Given the description of an element on the screen output the (x, y) to click on. 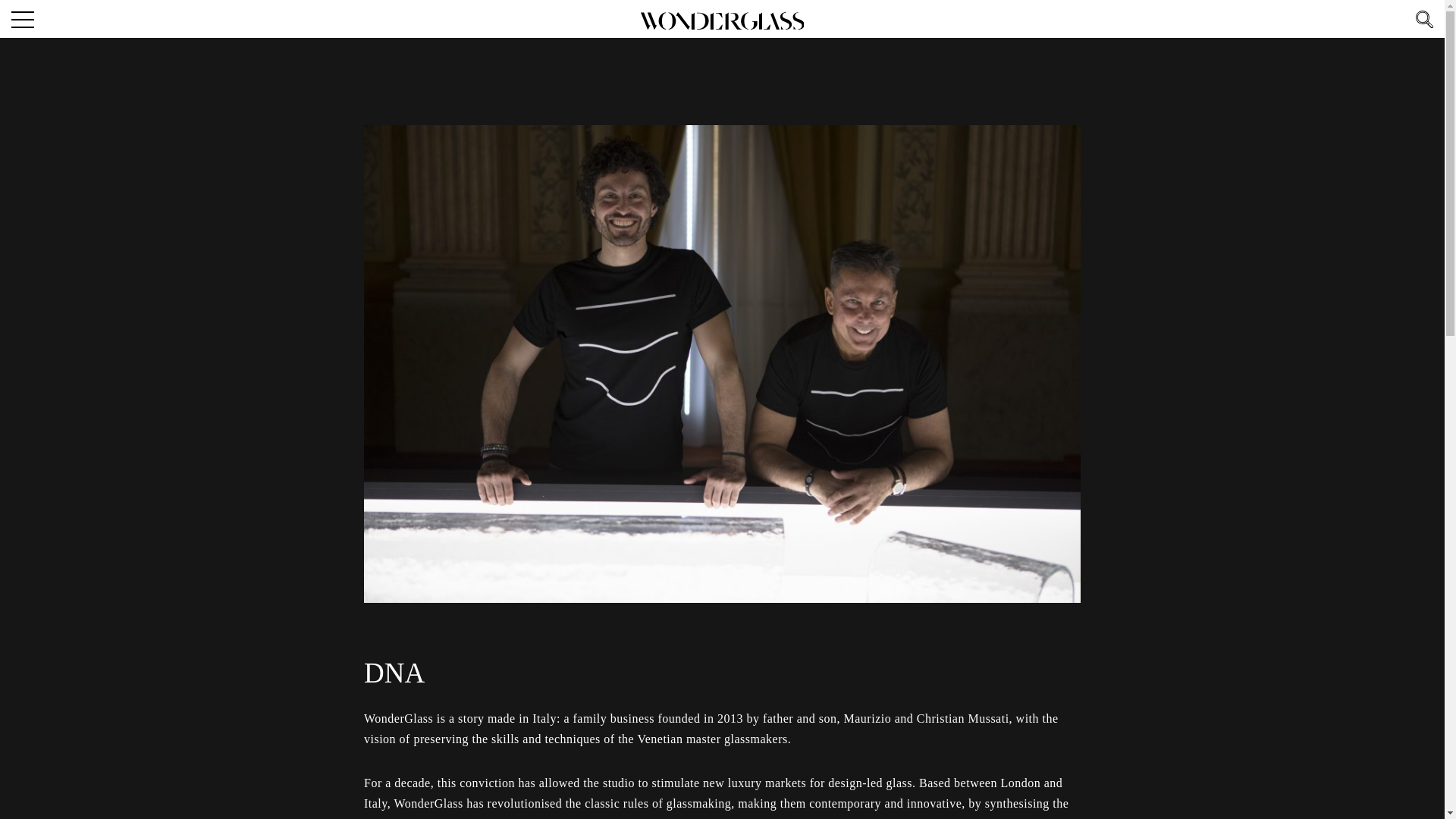
WonderGlass (722, 20)
